Given the description of an element on the screen output the (x, y) to click on. 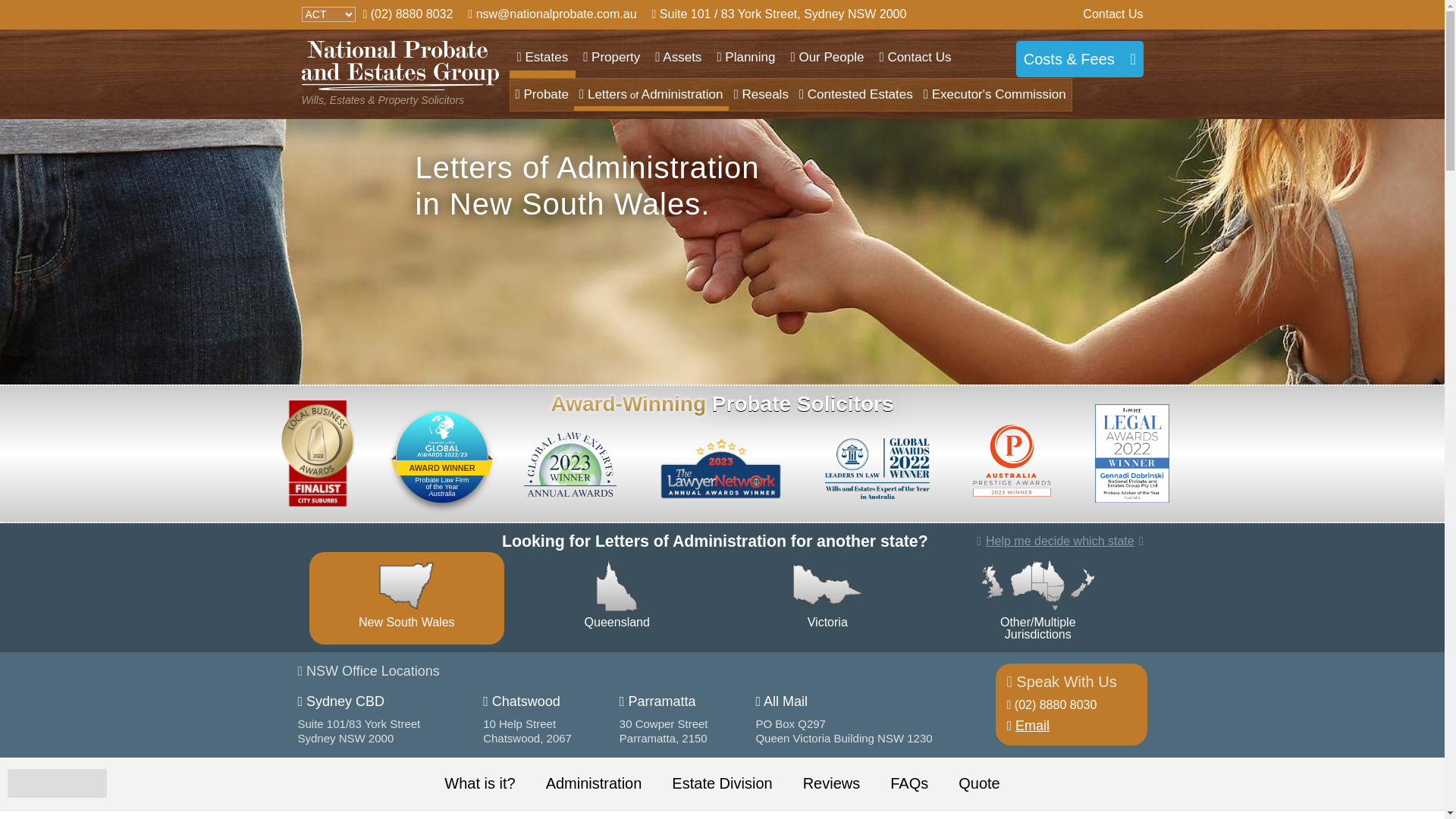
FAQs Element type: text (909, 783)
National Probate and Estates Group Element type: text (399, 65)
Letters of Administration Element type: text (651, 94)
Victoria Element type: text (826, 598)
Our People Element type: text (826, 57)
Email Element type: text (1028, 725)
Contact Us Element type: text (1112, 14)
Property Element type: text (611, 57)
Estates Element type: text (542, 57)
Contested Estates Element type: text (855, 94)
Estate Division Element type: text (721, 783)
Reseals Element type: text (760, 94)
Suite 101 / 83 York Street, Sydney NSW 2000 Element type: text (779, 14)
New South Wales Element type: text (406, 598)
What is it? Element type: text (479, 783)
Administration Element type: text (593, 783)
nsw@nationalprobate.com.au Element type: text (551, 14)
Quote Element type: text (978, 783)
Reviews Element type: text (831, 783)
Executor's Commission Element type: text (994, 94)
Queensland Element type: text (616, 598)
Assets Element type: text (678, 57)
Costs & Fees Element type: text (1079, 58)
Sydney CBD
Suite 101/83 York Street
Sydney NSW 2000 Element type: text (390, 725)
Contact Us Element type: text (914, 57)
Planning Element type: text (745, 57)
Probate Element type: text (541, 94)
Help me decide which state Element type: text (1059, 541)
